Given the description of an element on the screen output the (x, y) to click on. 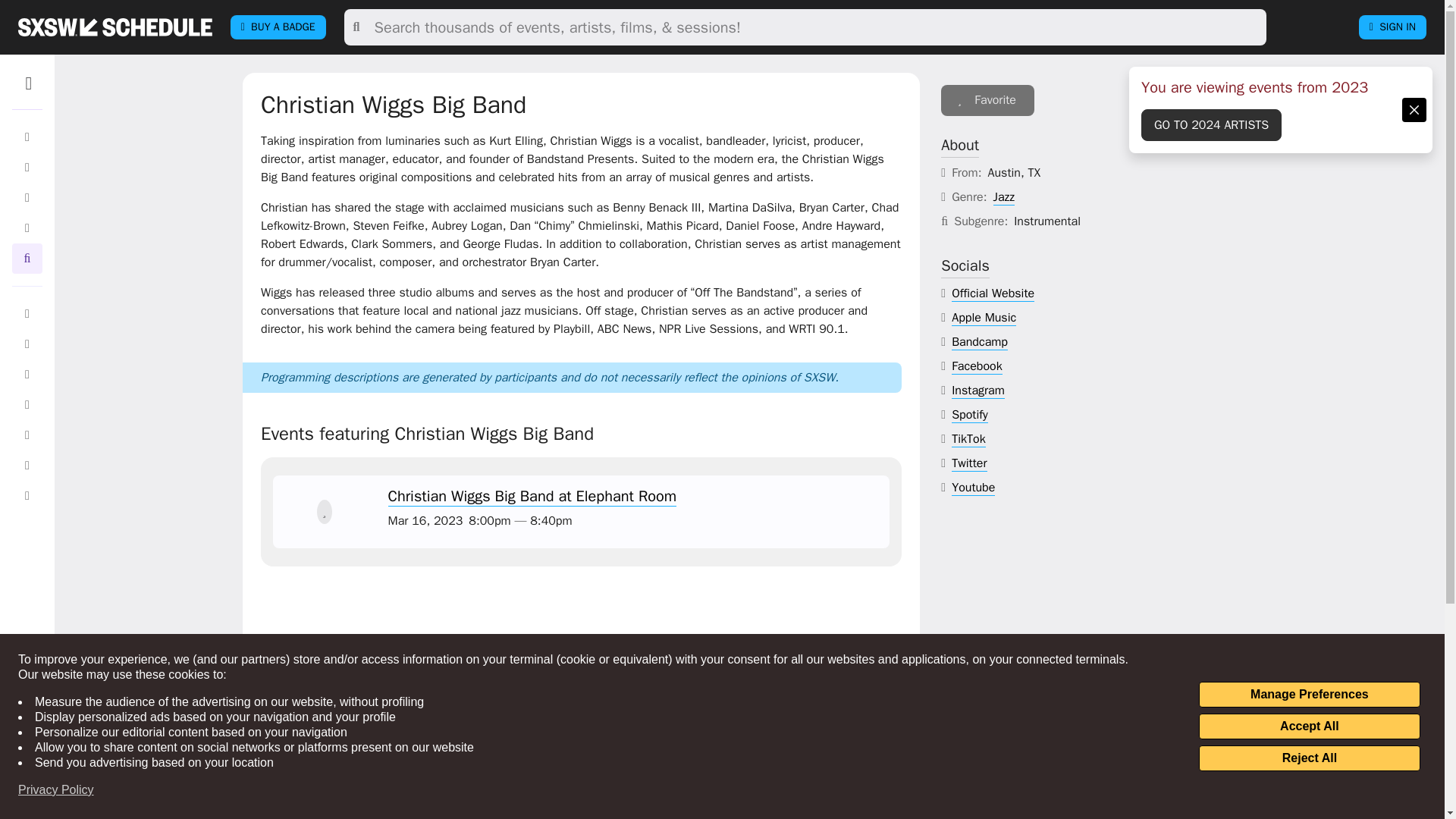
spotify (970, 415)
sxsw SCHEDULE (114, 27)
Sign In to add to your favorites. (324, 511)
apple (984, 317)
Sign In to add to your favorites. (986, 100)
bandcamp (979, 342)
Privacy Policy (55, 789)
SIGN IN (1392, 27)
website (992, 293)
BUY A BADGE (278, 27)
GO TO 2024 ARTISTS (1211, 124)
facebook (976, 366)
Accept All (1309, 726)
Manage Preferences (1309, 694)
instagram (978, 390)
